Given the description of an element on the screen output the (x, y) to click on. 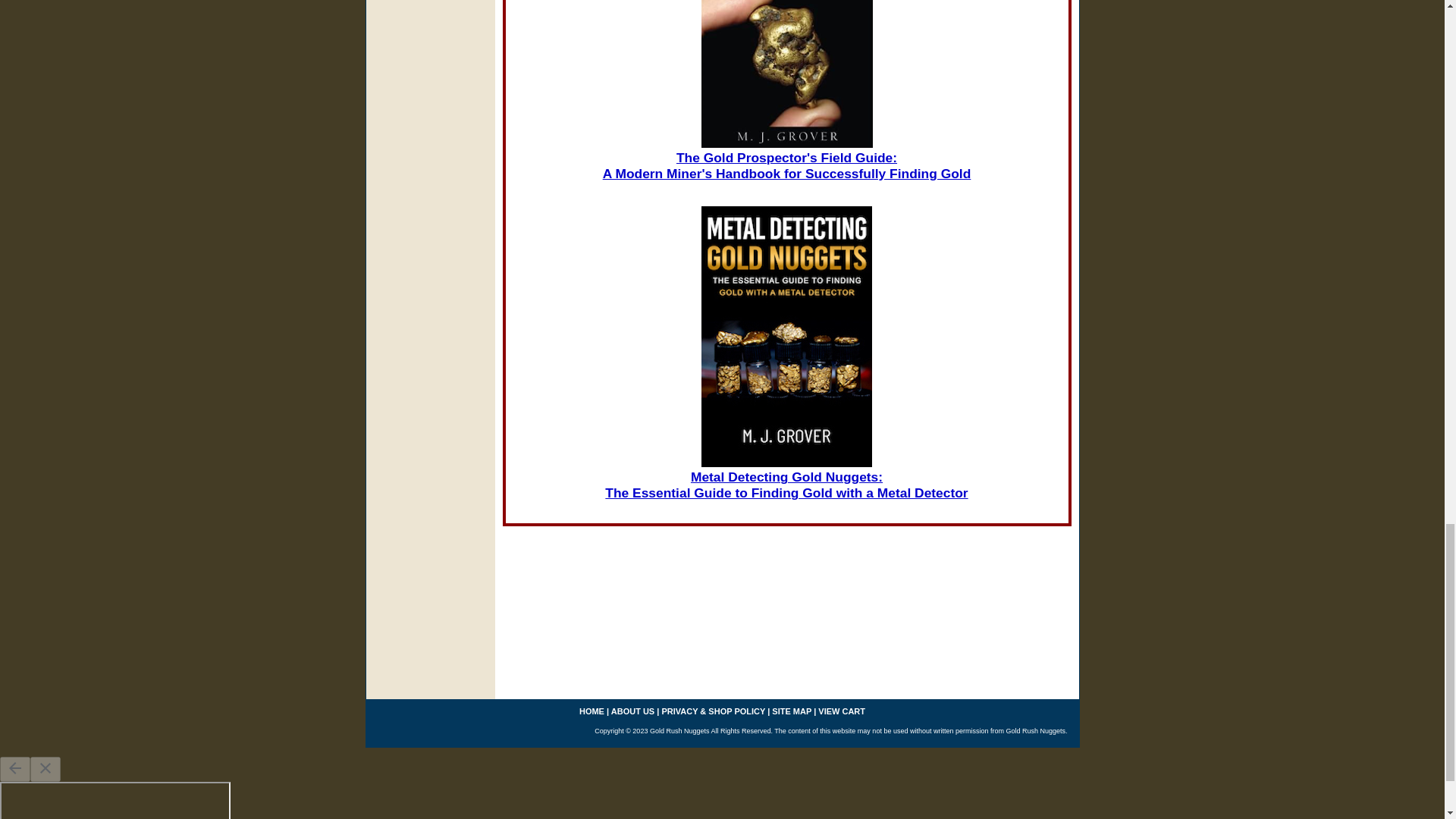
HOME (591, 710)
VIEW CART (841, 710)
SITE MAP (790, 710)
ABOUT US (632, 710)
